Given the description of an element on the screen output the (x, y) to click on. 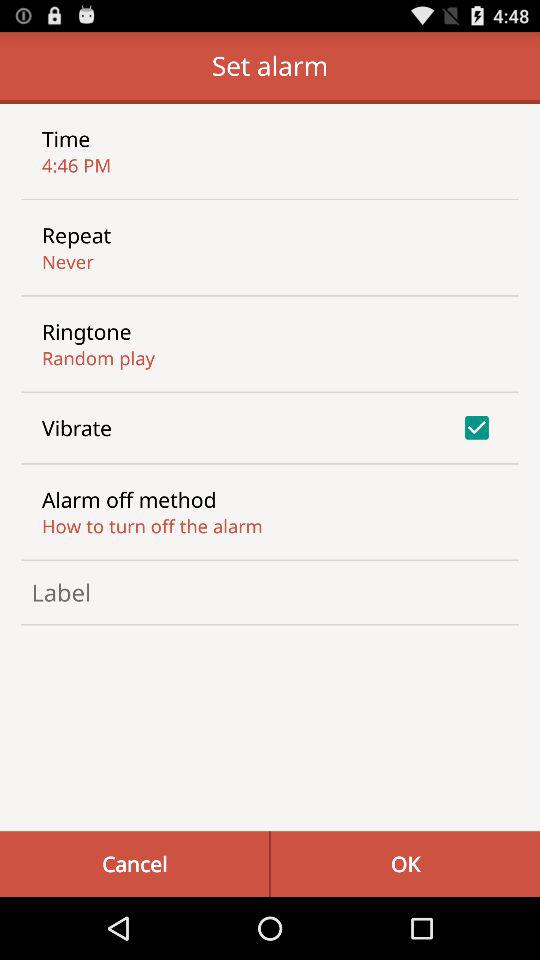
choose label (270, 592)
